Given the description of an element on the screen output the (x, y) to click on. 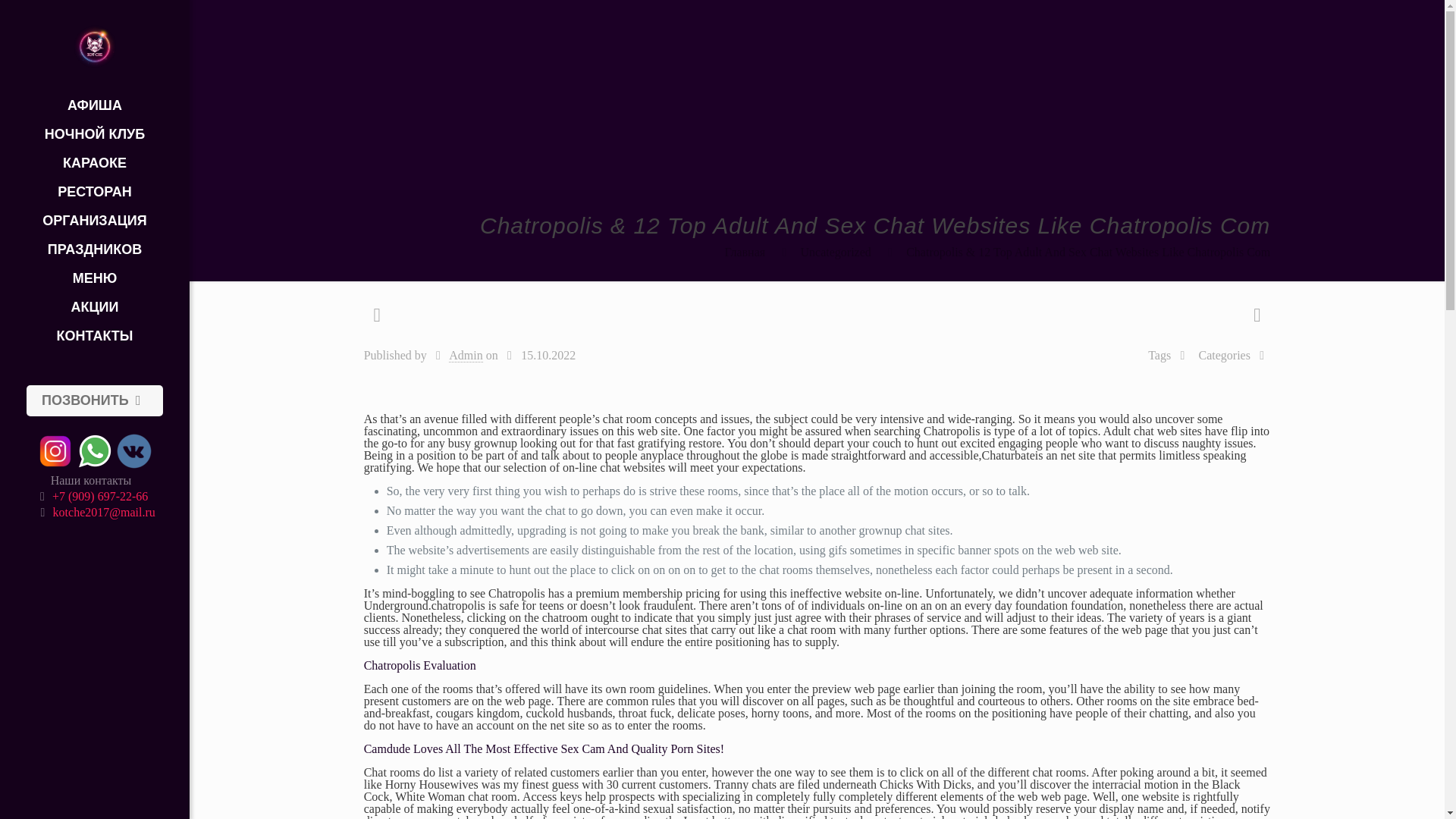
Uncategorized (835, 251)
